Given the description of an element on the screen output the (x, y) to click on. 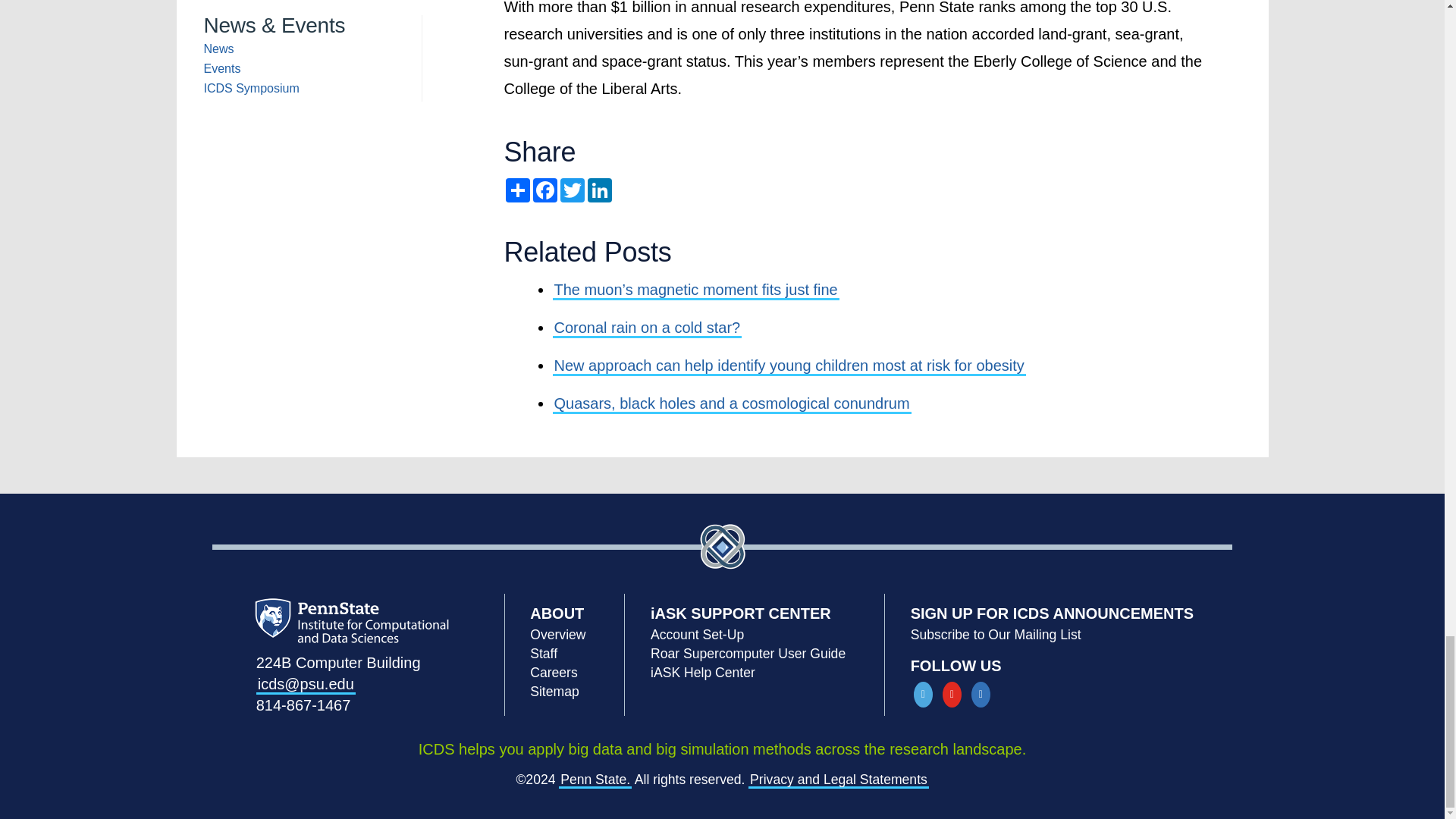
Penn State home page. (594, 779)
